Given the description of an element on the screen output the (x, y) to click on. 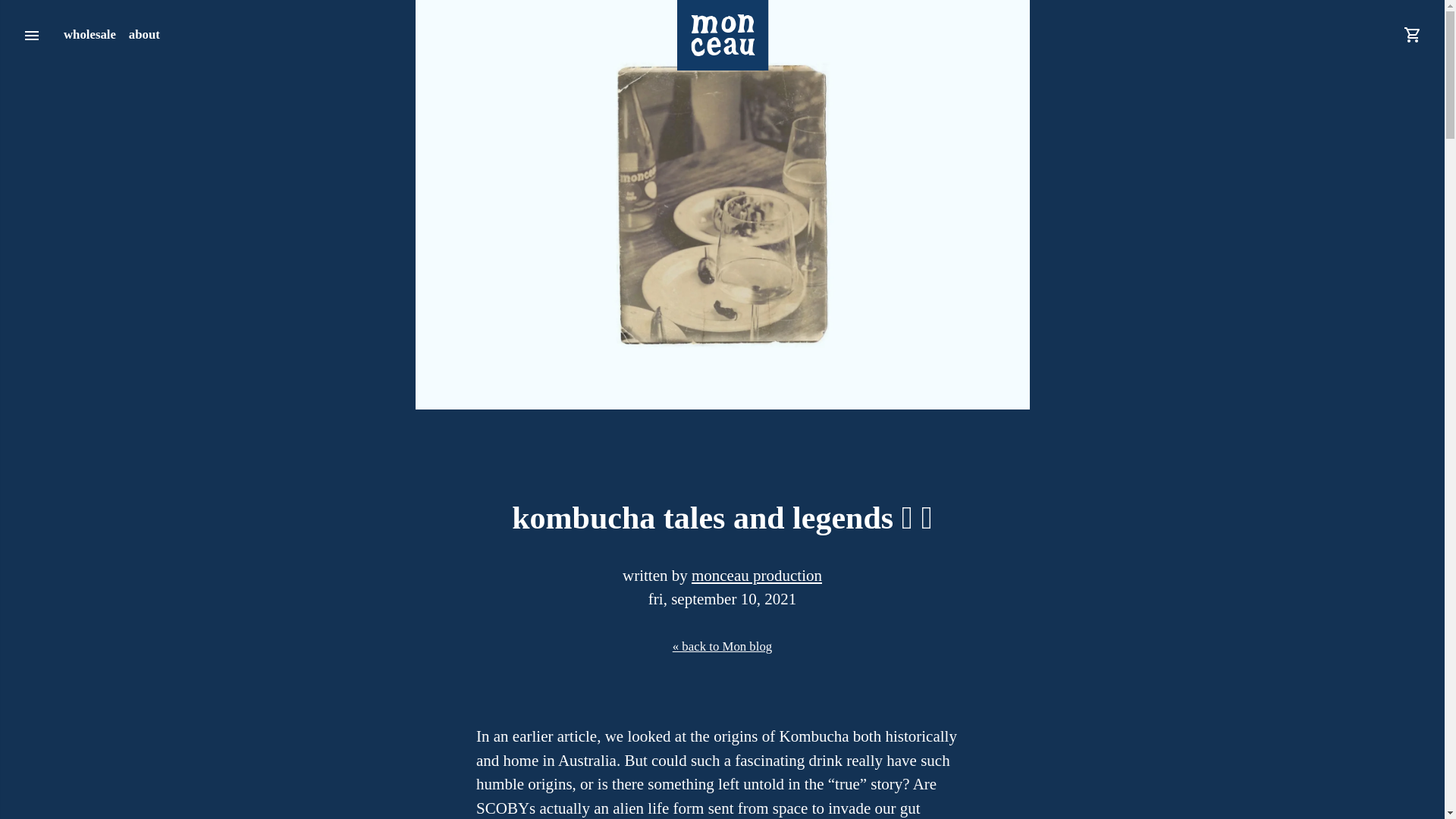
monceau production (756, 575)
wholesale (90, 34)
about (144, 34)
